Given the description of an element on the screen output the (x, y) to click on. 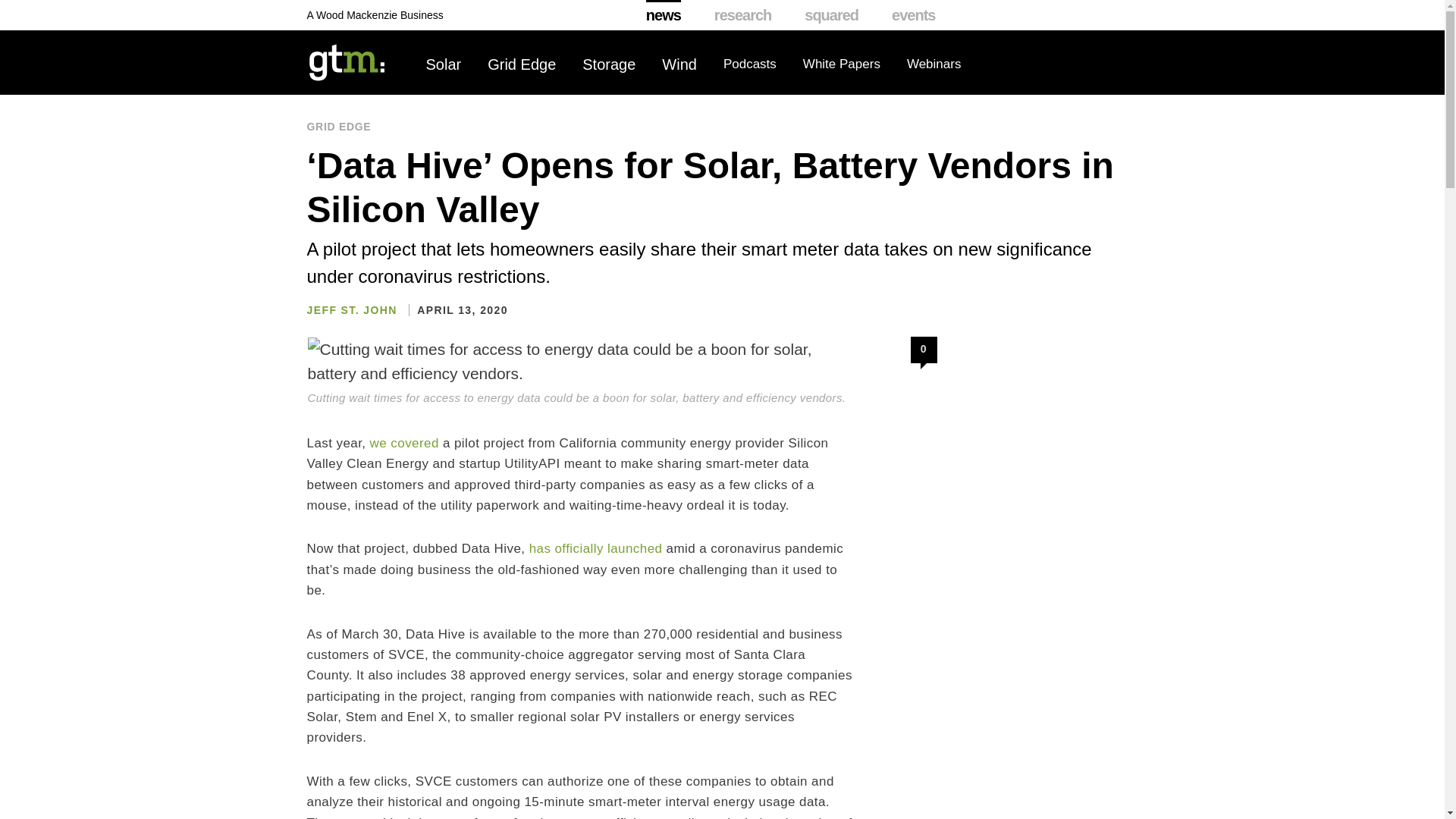
research (742, 15)
Storage (608, 64)
squared (832, 15)
Wind (679, 64)
news (663, 15)
White Papers (841, 64)
Podcasts (749, 64)
events (912, 15)
Grid Edge (521, 64)
Solar (443, 64)
